Given the description of an element on the screen output the (x, y) to click on. 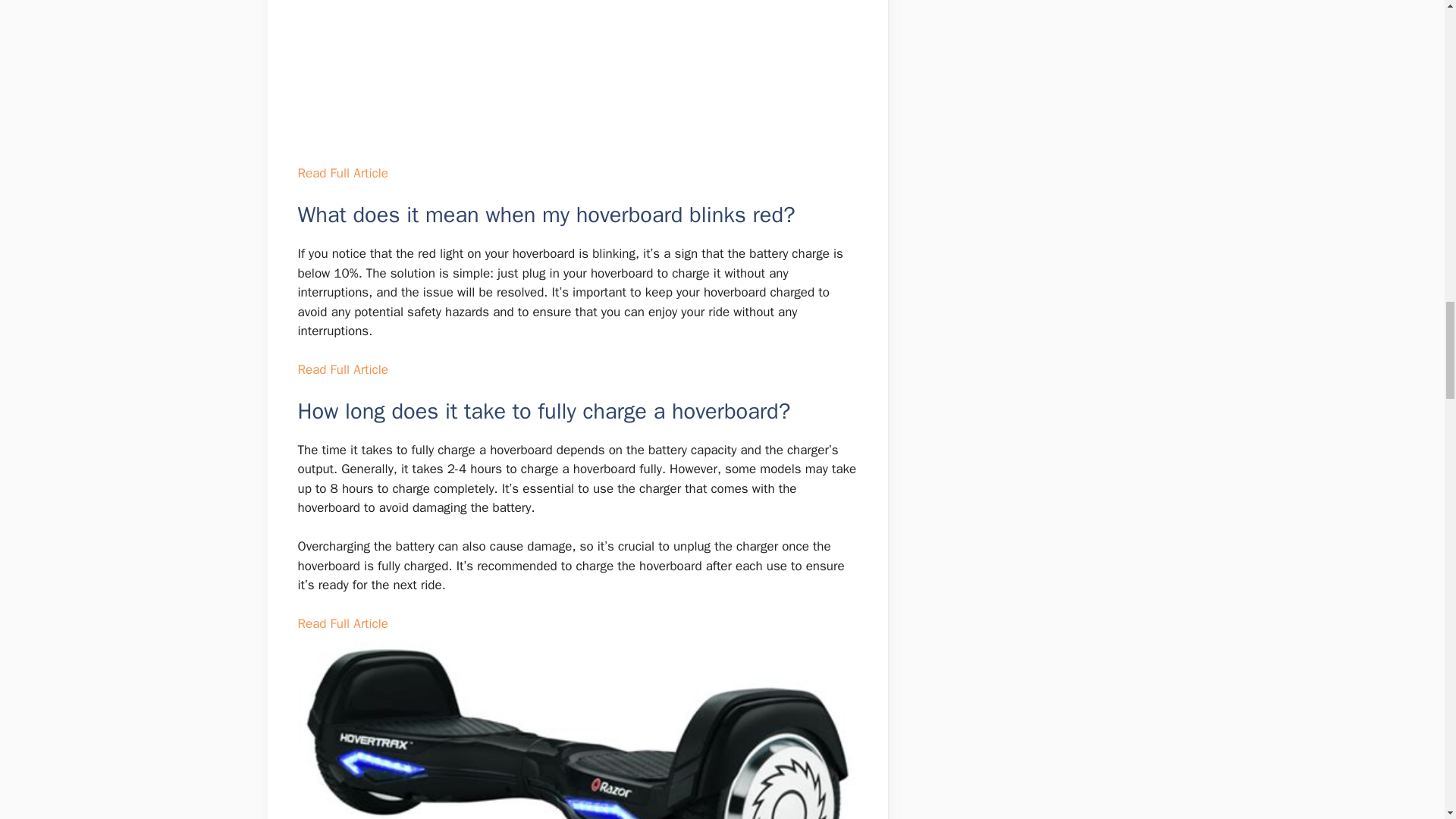
Can I leave my dog in a crate for 10 hours? (577, 79)
Read Full Article (342, 172)
Read Full Article (342, 623)
Read Full Article (342, 369)
